Given the description of an element on the screen output the (x, y) to click on. 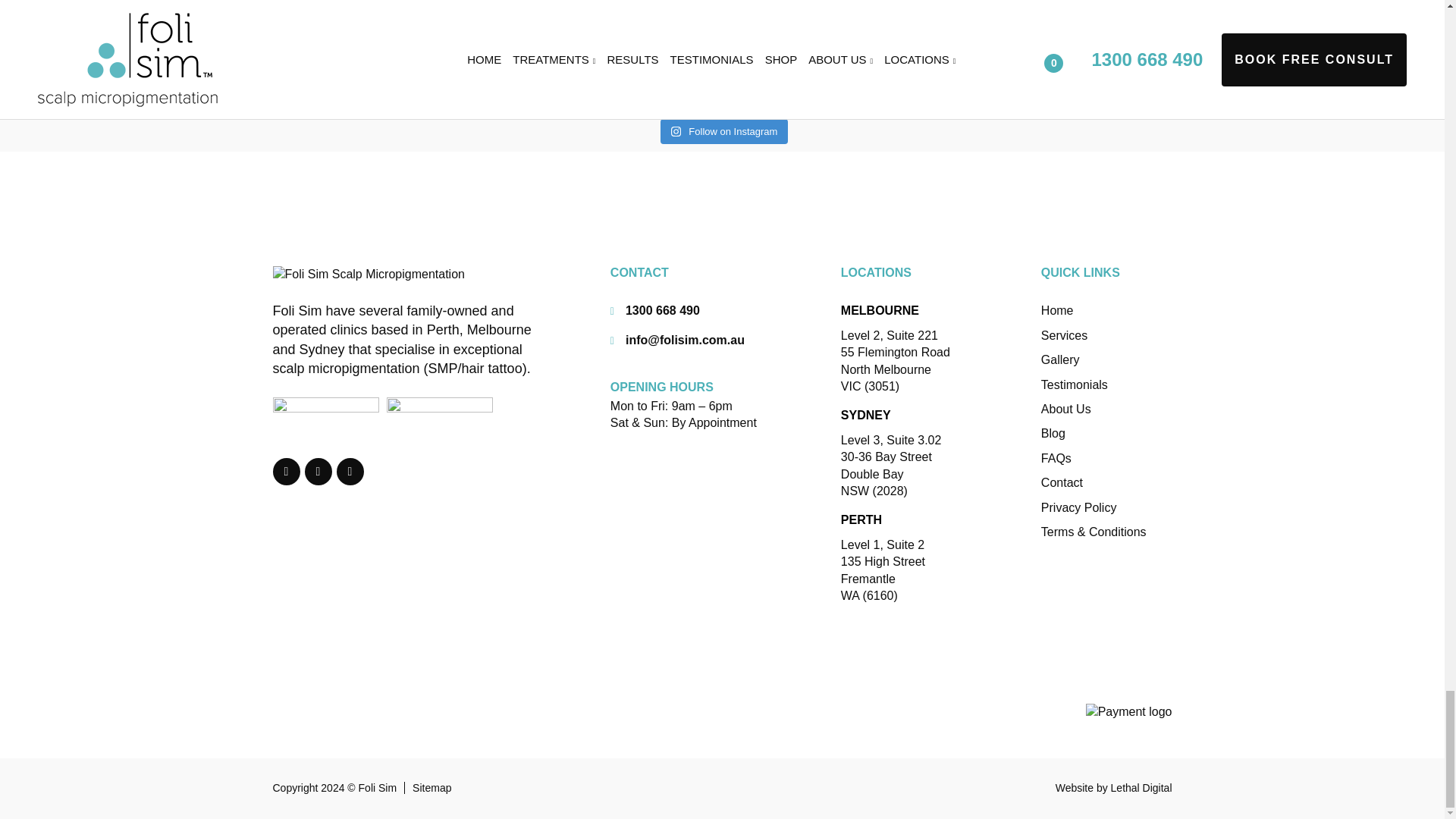
Instagram (317, 471)
Facebook (286, 471)
YouTube (350, 471)
